Given the description of an element on the screen output the (x, y) to click on. 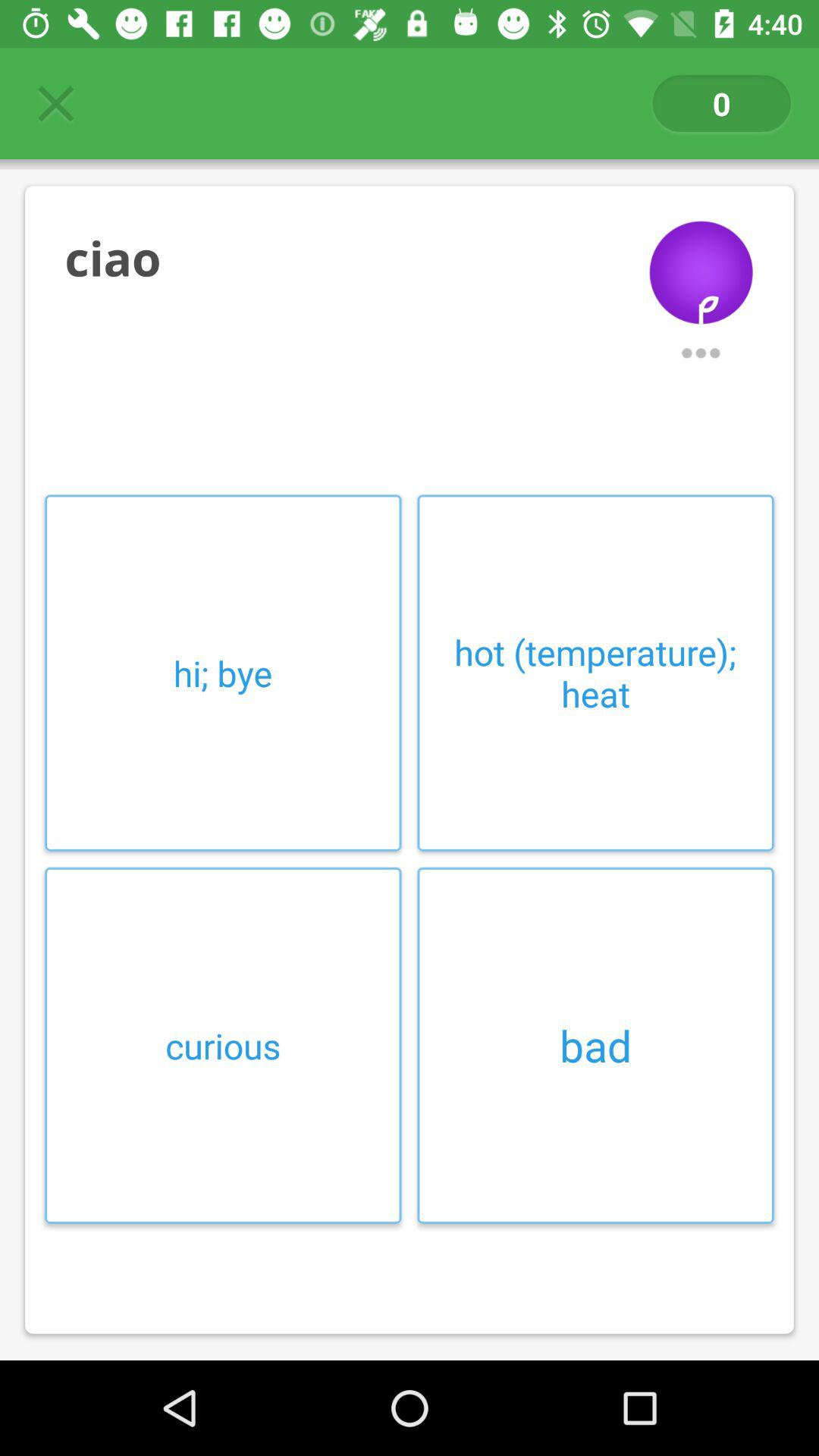
turn on icon on the right (595, 672)
